Given the description of an element on the screen output the (x, y) to click on. 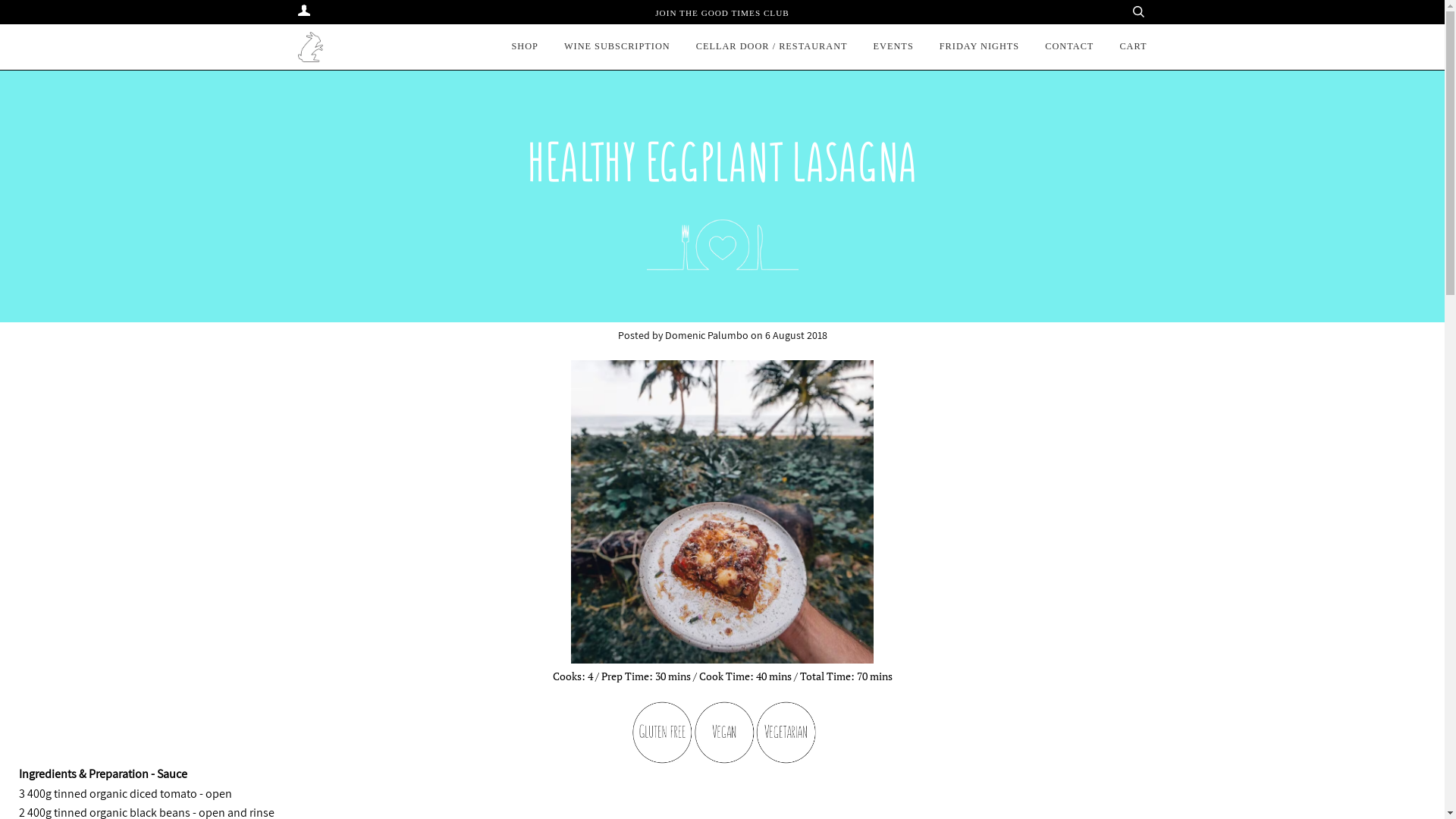
EVENTS Element type: text (893, 46)
SHOP Element type: text (524, 46)
CELLAR DOOR / RESTAURANT Element type: text (771, 46)
JOIN THE GOOD TIMES CLUB Element type: text (721, 12)
FRIDAY NIGHTS Element type: text (979, 46)
CONTACT Element type: text (1068, 46)
WINE SUBSCRIPTION Element type: text (617, 46)
CART Element type: text (1132, 46)
